Given the description of an element on the screen output the (x, y) to click on. 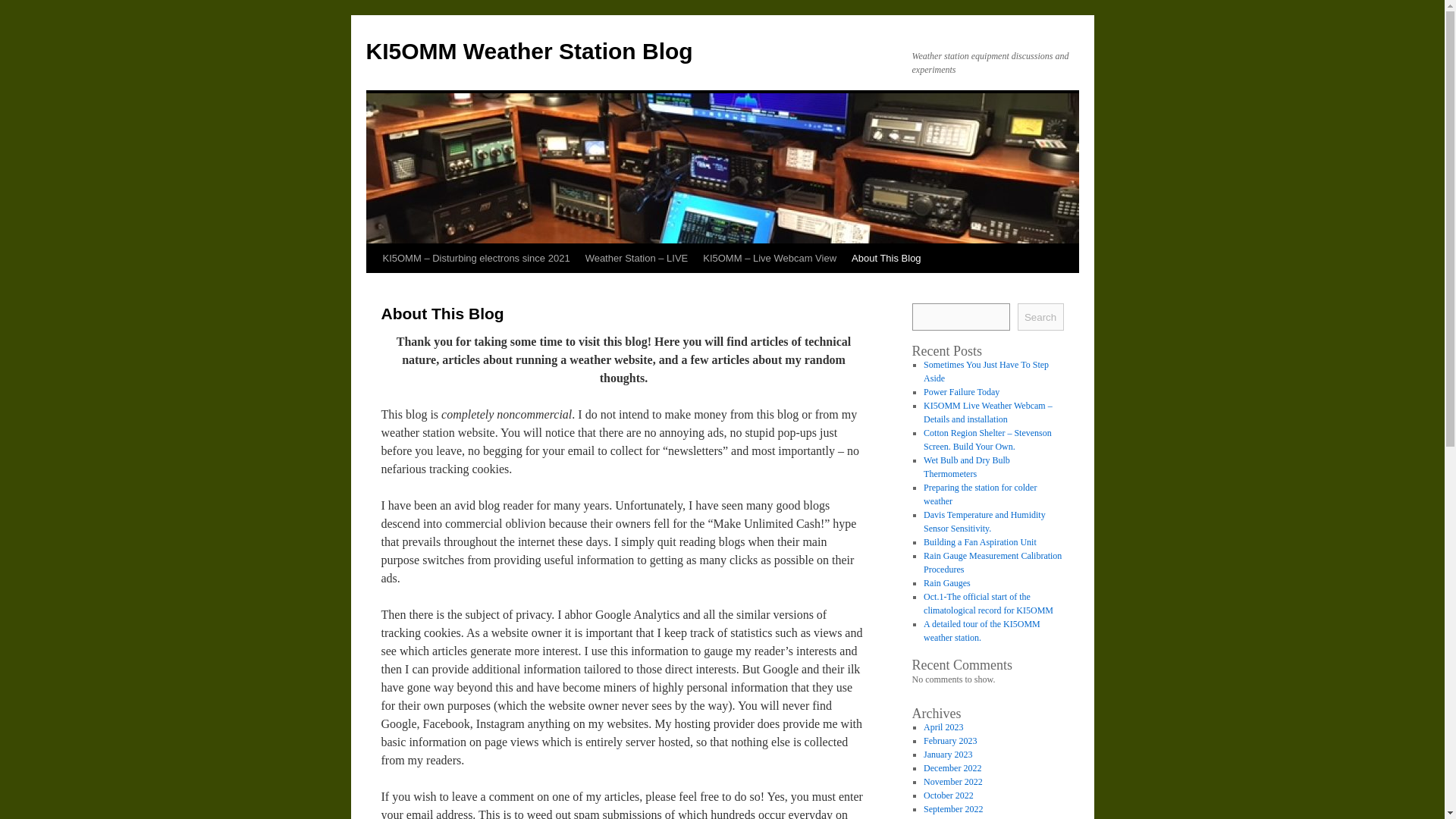
Wet Bulb and Dry Bulb Thermometers (966, 467)
Rain Gauge Measurement Calibration Procedures (992, 562)
Preparing the station for colder weather (979, 494)
Search (1040, 316)
September 2022 (952, 808)
April 2023 (942, 726)
Davis Temperature and Humidity Sensor Sensitivity. (984, 521)
October 2022 (948, 795)
KI5OMM Weather Station Blog (529, 50)
January 2023 (947, 754)
